Given the description of an element on the screen output the (x, y) to click on. 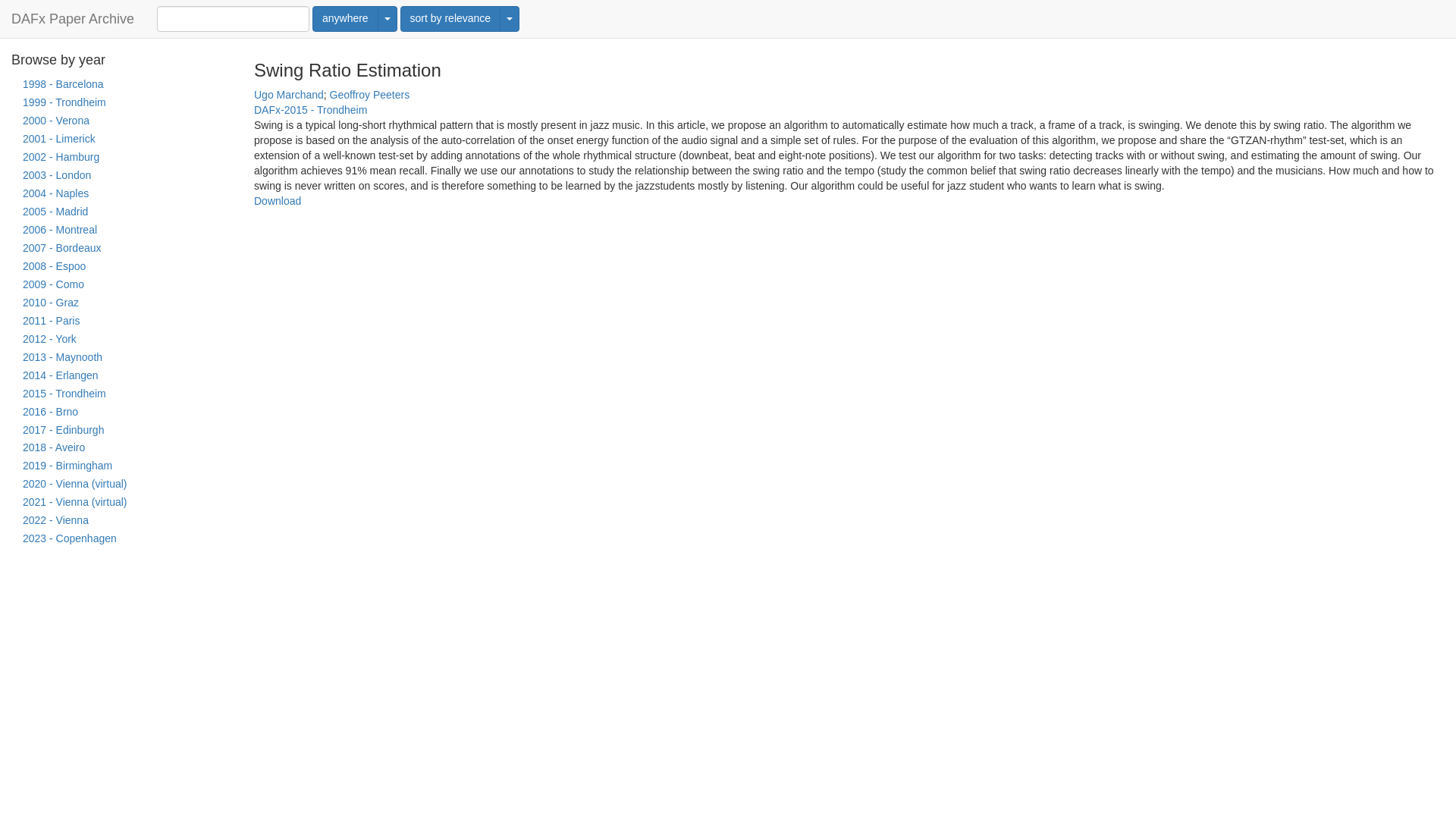
2007 - Bordeaux (121, 248)
2019 - Birmingham (121, 466)
2009 - Como (121, 285)
2001 - Limerick (121, 139)
2004 - Naples (121, 194)
Geoffroy Peeters (370, 94)
2014 - Erlangen (121, 375)
2002 - Hamburg (121, 157)
2010 - Graz (121, 303)
sort by relevance (450, 18)
2013 - Maynooth (121, 357)
DAFx-2015 - Trondheim (309, 110)
2006 - Montreal (121, 230)
anywhere (345, 18)
2015 - Trondheim (121, 393)
